Given the description of an element on the screen output the (x, y) to click on. 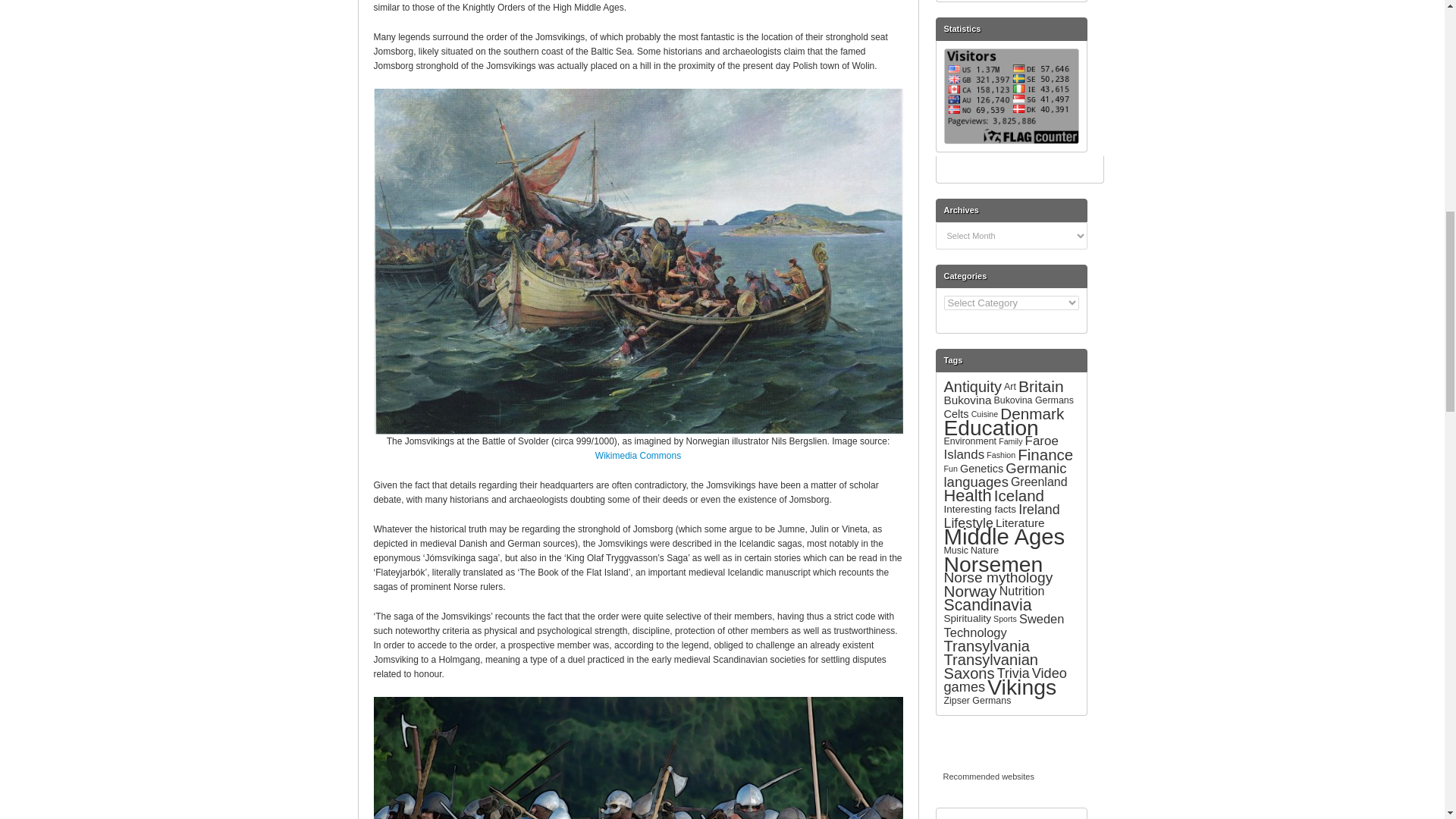
Antiquity (972, 386)
Wikimedia Commons (638, 455)
Bukovina (967, 399)
Art (1010, 386)
Britain (1040, 385)
